Given the description of an element on the screen output the (x, y) to click on. 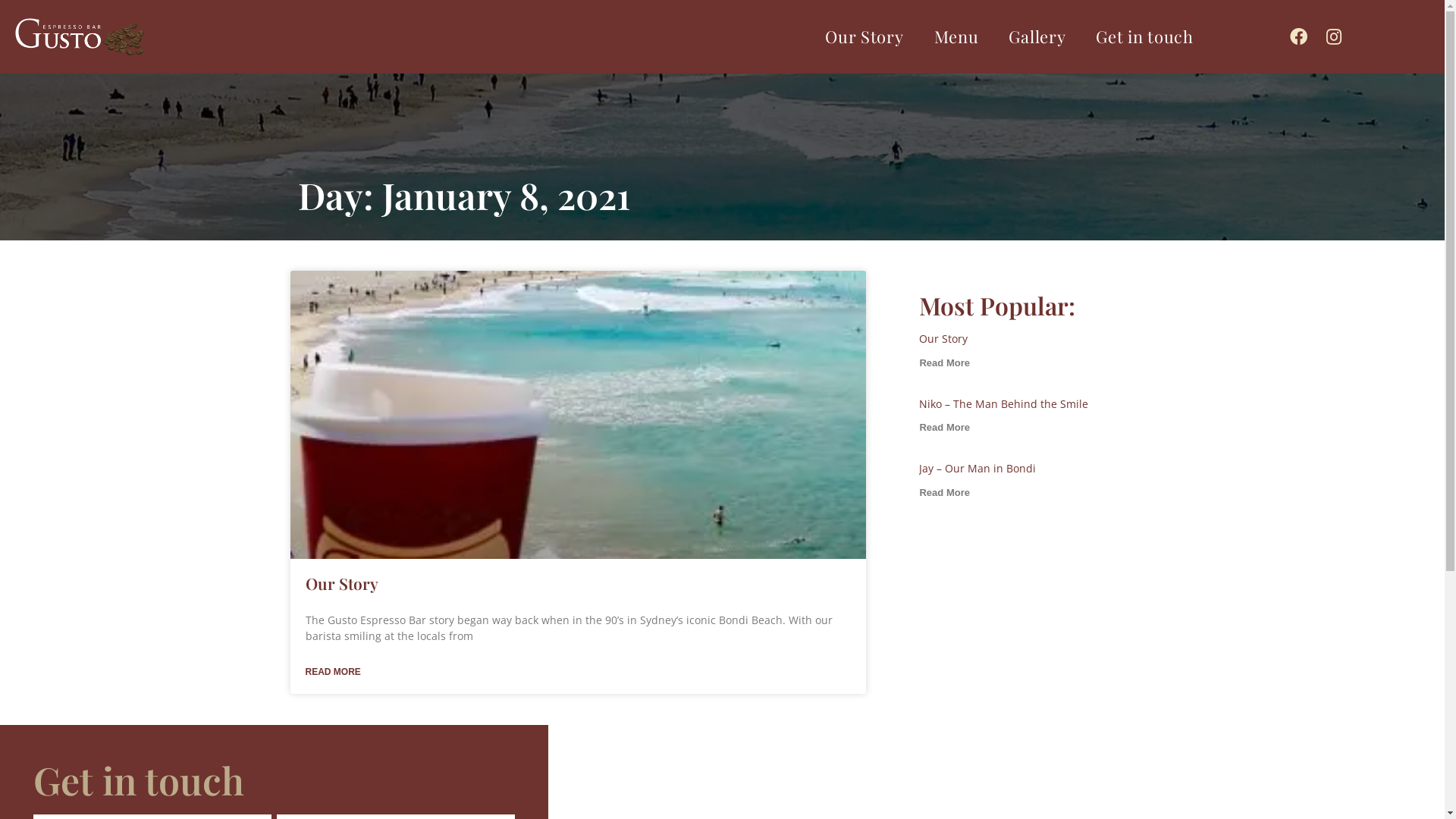
Our Story Element type: text (863, 35)
Menu Element type: text (956, 35)
Get in touch Element type: text (1144, 35)
Gallery Element type: text (1036, 35)
Read More Element type: text (944, 362)
Read More Element type: text (944, 427)
Our Story Element type: text (943, 338)
READ MORE Element type: text (332, 671)
Our Story Element type: text (340, 582)
Read More Element type: text (944, 492)
